Given the description of an element on the screen output the (x, y) to click on. 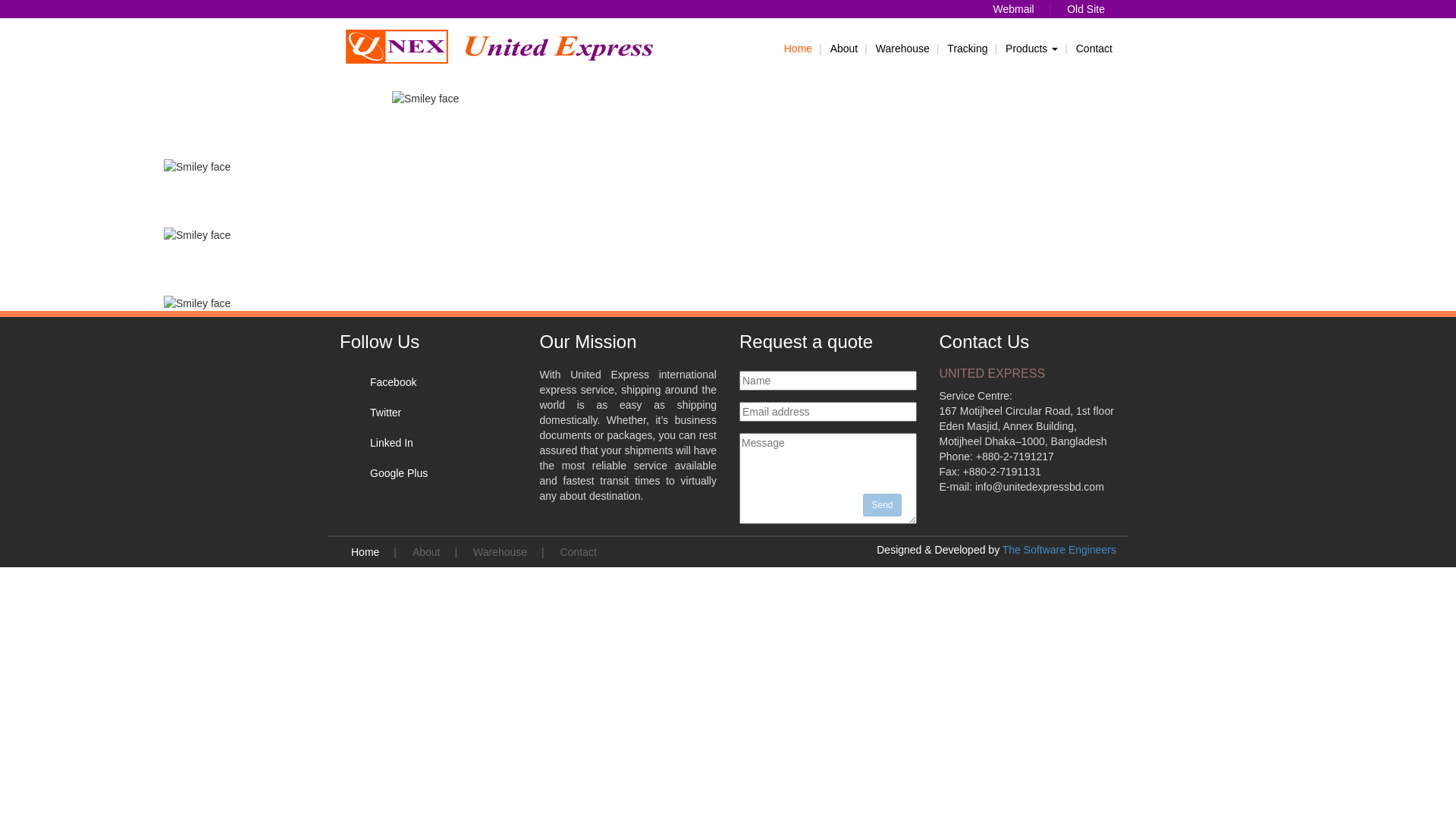
Twitter Element type: text (385, 412)
Warehouse Element type: text (499, 551)
Facebook Element type: text (393, 382)
Home Element type: text (364, 551)
Old Site Element type: text (1085, 9)
Linked In Element type: text (391, 442)
Products Element type: text (1031, 48)
Google Plus Element type: text (398, 473)
Webmail Element type: text (1012, 9)
About Element type: text (844, 48)
Home Element type: text (797, 48)
Contact Element type: text (1094, 48)
Tracking Element type: text (967, 48)
Warehouse Element type: text (902, 48)
Contact Element type: text (578, 551)
The Software Engineers Element type: text (1059, 549)
About Element type: text (426, 551)
Send Element type: text (881, 504)
